Given the description of an element on the screen output the (x, y) to click on. 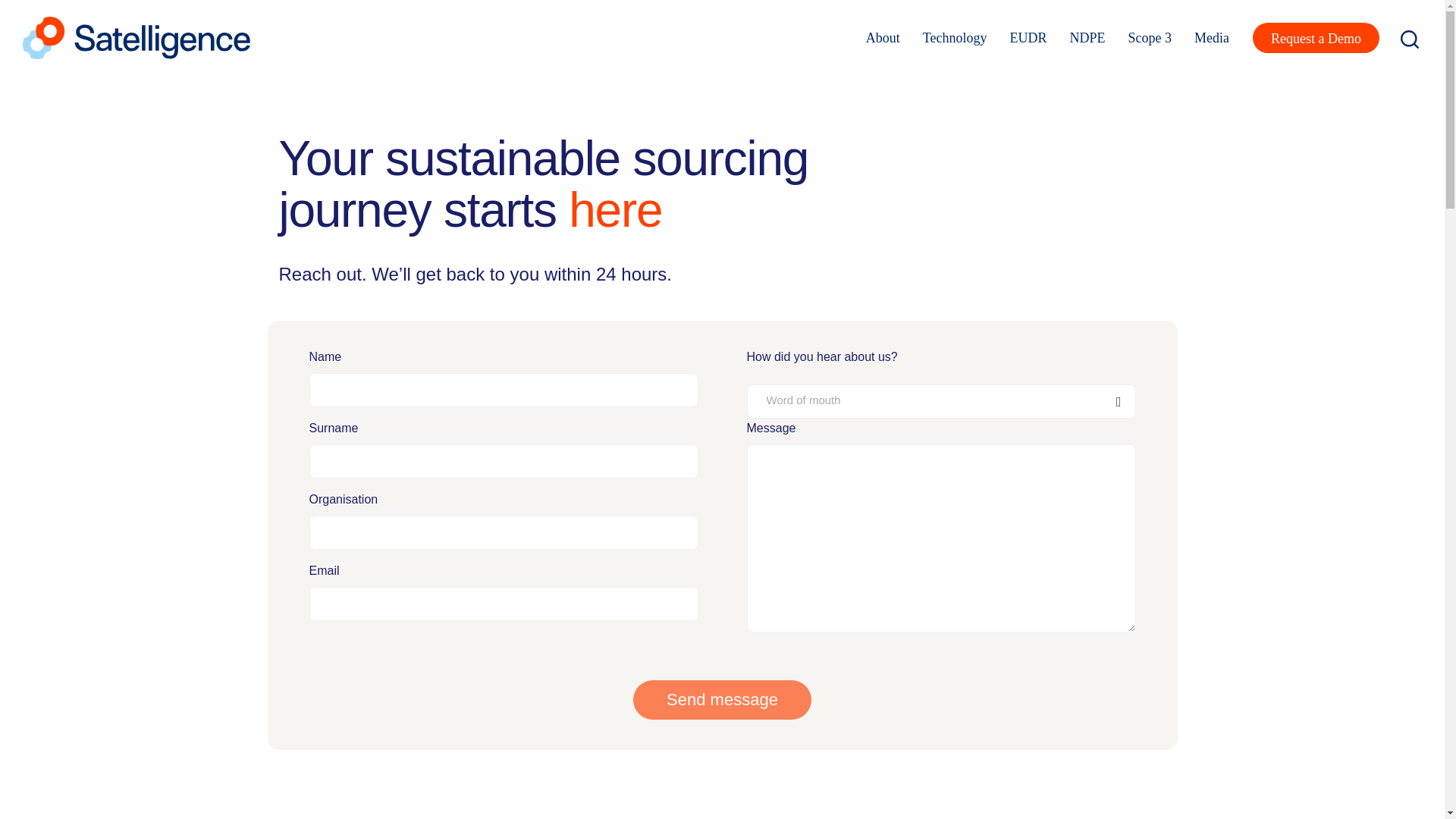
Technology (954, 38)
Satelligence (136, 37)
Request a Demo (1315, 37)
Send message (721, 699)
Send message (721, 699)
